Given the description of an element on the screen output the (x, y) to click on. 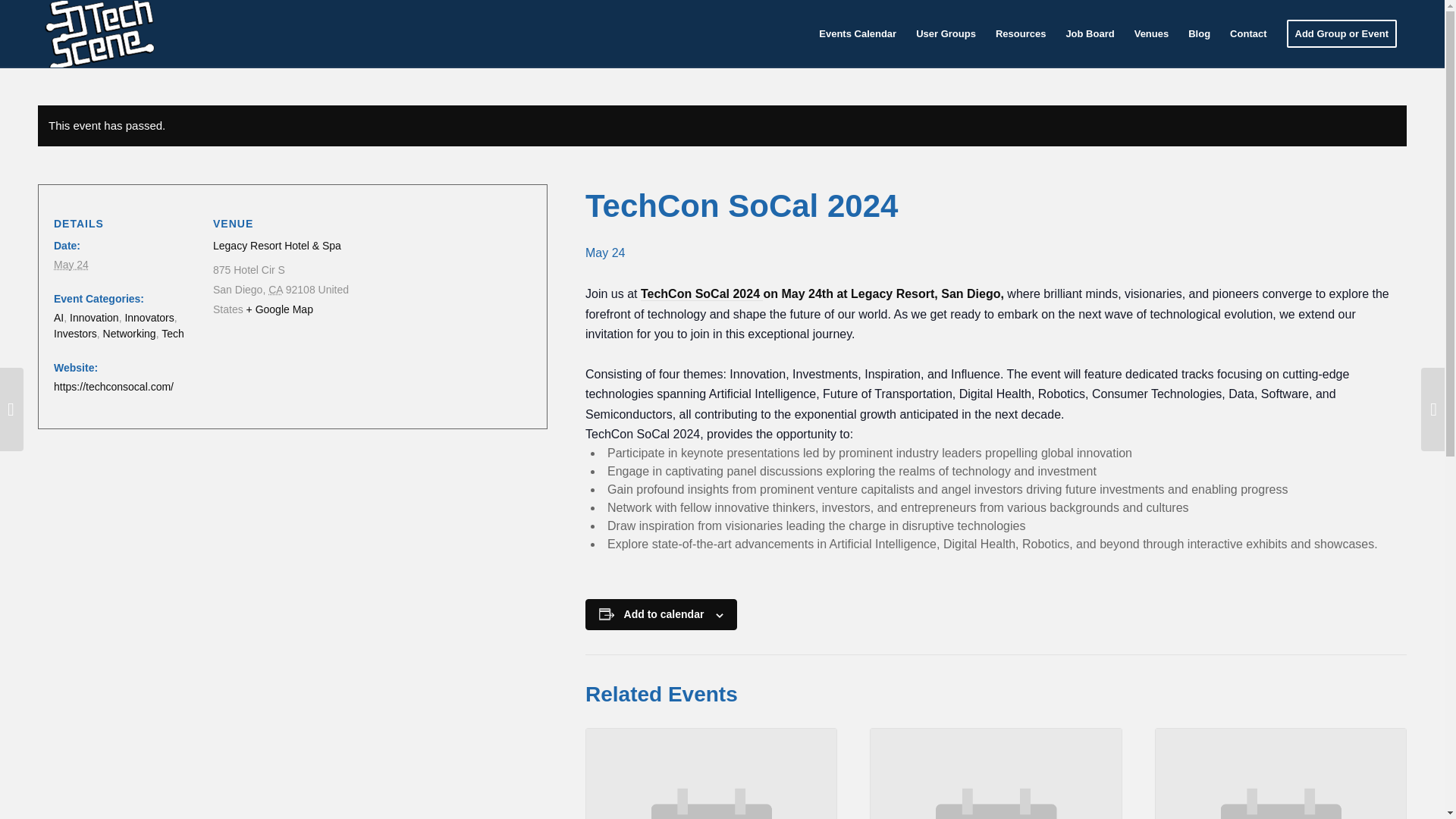
California (274, 289)
Events Calendar (857, 33)
TechCon SoCal 2024  (701, 294)
Add to calendar (664, 613)
Add Group or Event (1341, 33)
Innovation (94, 317)
SD Tech Scene Logo 2019 (97, 33)
Click to view a Google Map (279, 309)
2024-05-24 (70, 264)
Job Board (1089, 33)
